Given the description of an element on the screen output the (x, y) to click on. 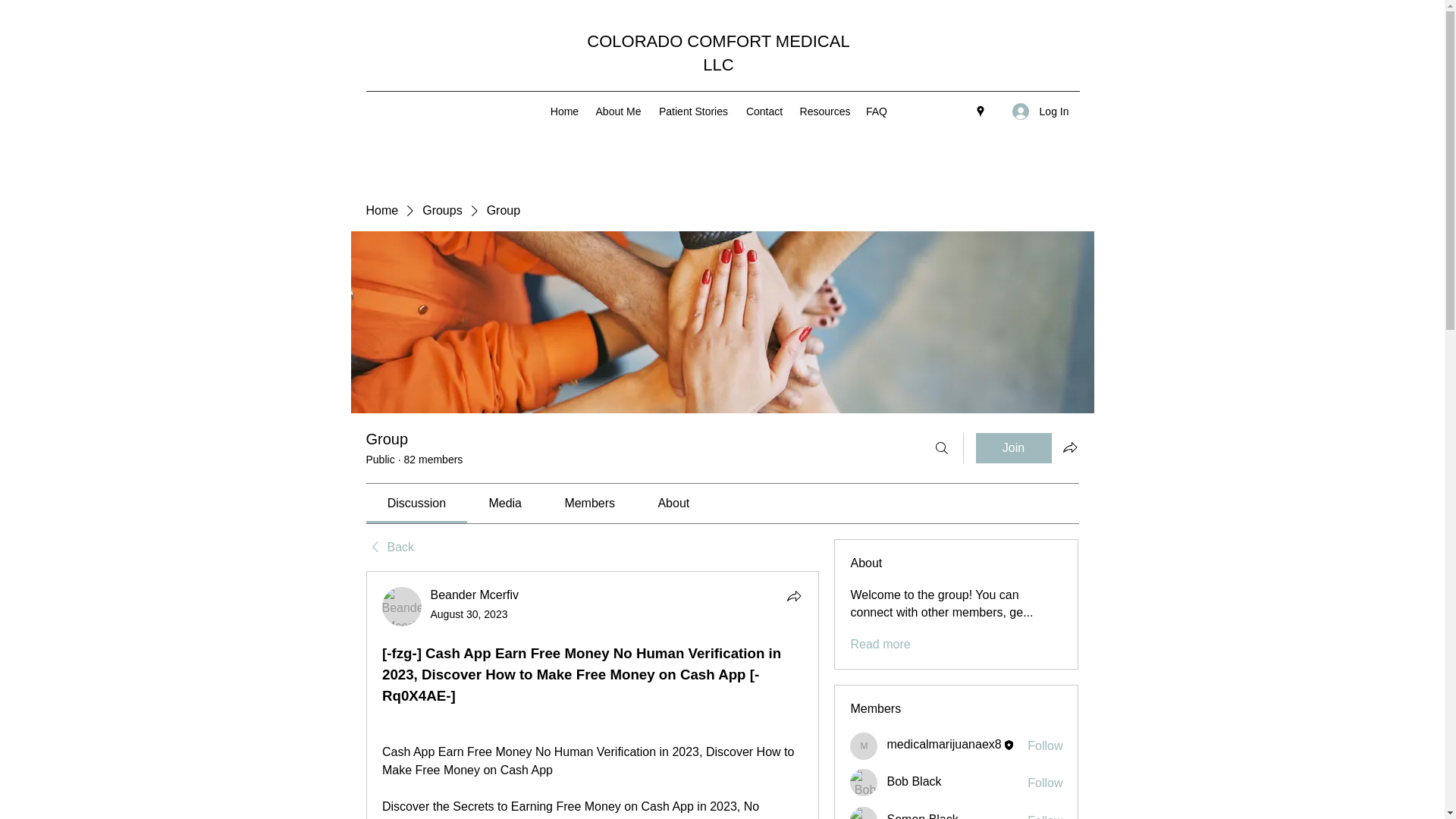
Semen Black (863, 812)
Back (389, 547)
Home (381, 210)
Read more (880, 644)
Join (1013, 448)
Follow (1044, 816)
Bob Black (863, 782)
Home (563, 111)
medicalmarijuanaex8 (943, 744)
August 30, 2023 (469, 613)
About Me (617, 111)
Patient Stories (692, 111)
Follow (1044, 745)
Follow (1044, 782)
Groups (441, 210)
